Given the description of an element on the screen output the (x, y) to click on. 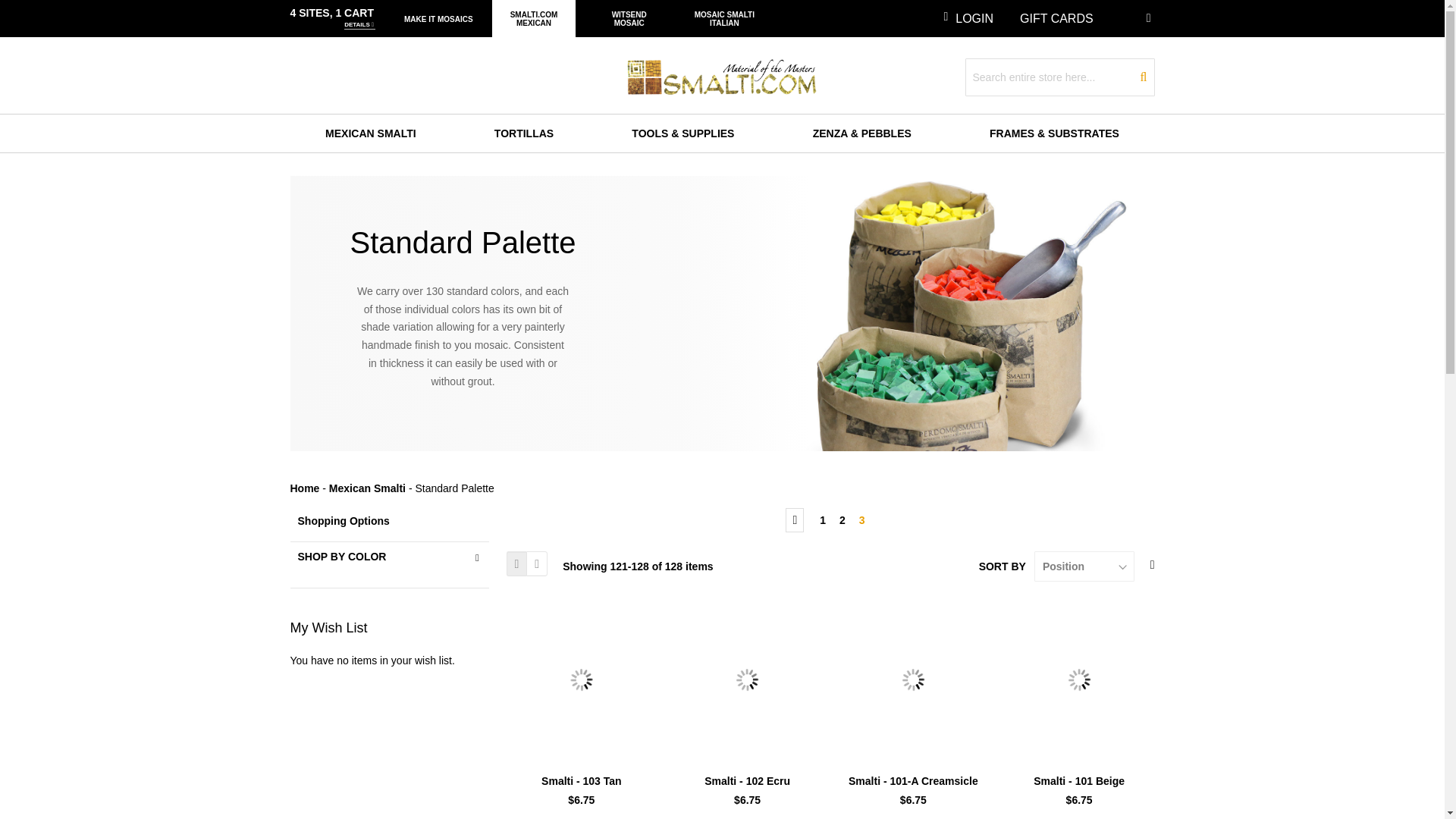
Go to Home Page (303, 488)
WITSEND MOSAIC (628, 18)
GIFT CARDS (1056, 18)
MAKE IT MOSAICS (438, 18)
SMALTI.COM MEXICAN (534, 18)
MEXICAN SMALTI (370, 133)
LOGIN (967, 18)
Magento Commerce (722, 76)
TORTILLAS (523, 133)
